Given the description of an element on the screen output the (x, y) to click on. 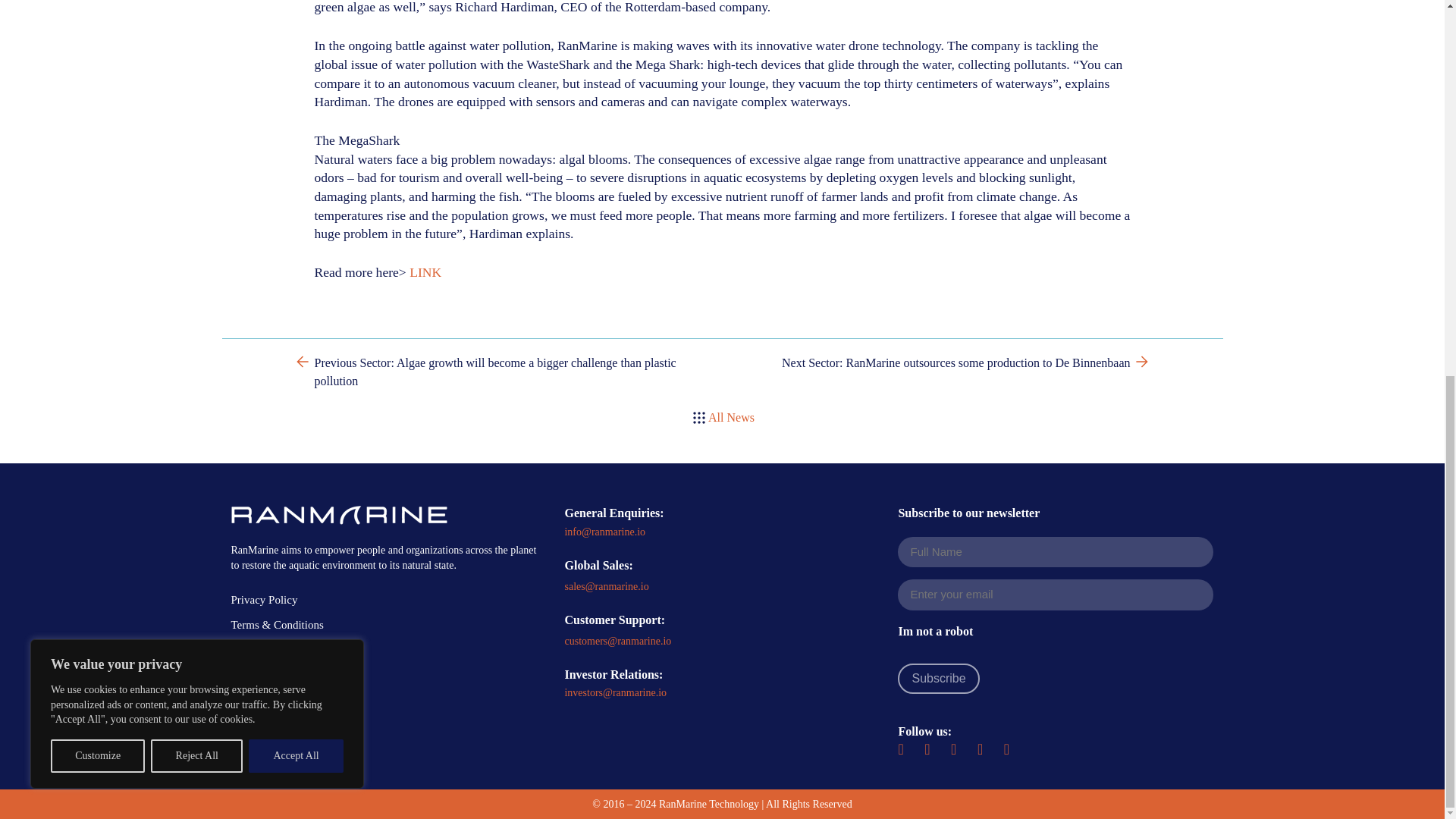
Reject All (197, 62)
Accept All (295, 62)
Subscribe (938, 678)
Customize (97, 62)
